Given the description of an element on the screen output the (x, y) to click on. 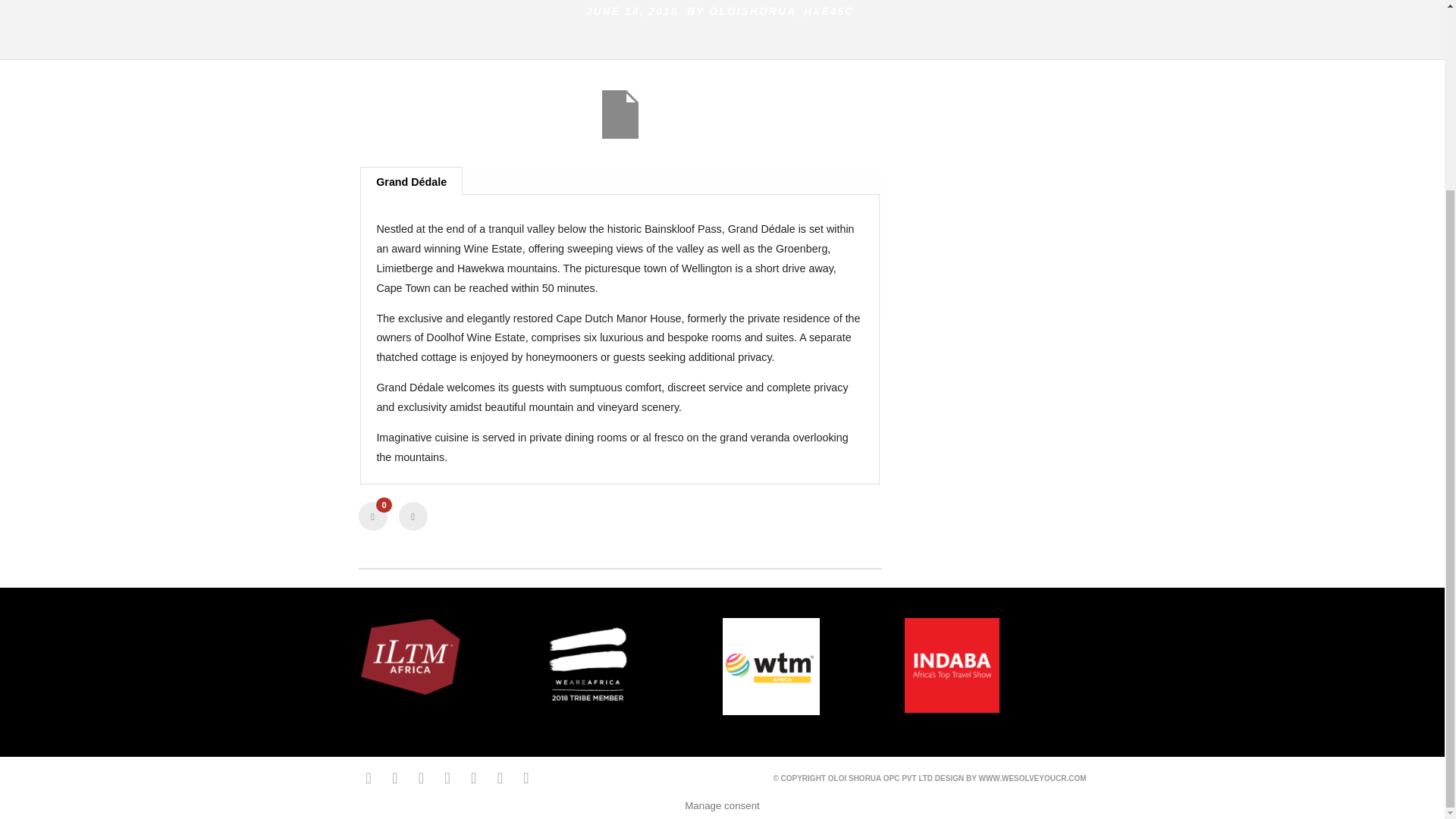
0 (372, 516)
